Given the description of an element on the screen output the (x, y) to click on. 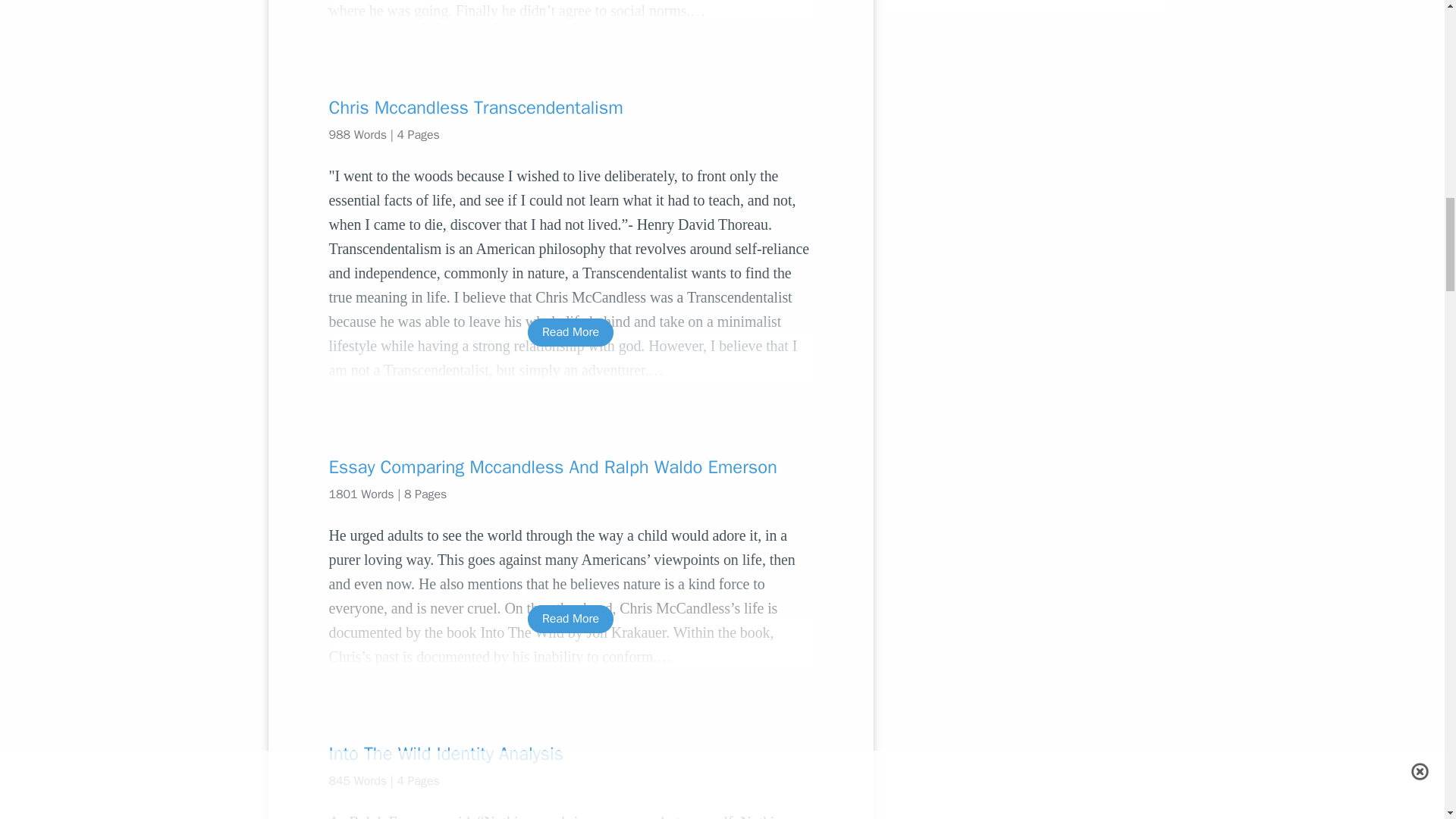
Read More (569, 619)
Read More (569, 332)
Into The Wild Identity Analysis (570, 753)
Chris Mccandless Transcendentalism (570, 107)
Essay Comparing Mccandless And Ralph Waldo Emerson (570, 467)
